Given the description of an element on the screen output the (x, y) to click on. 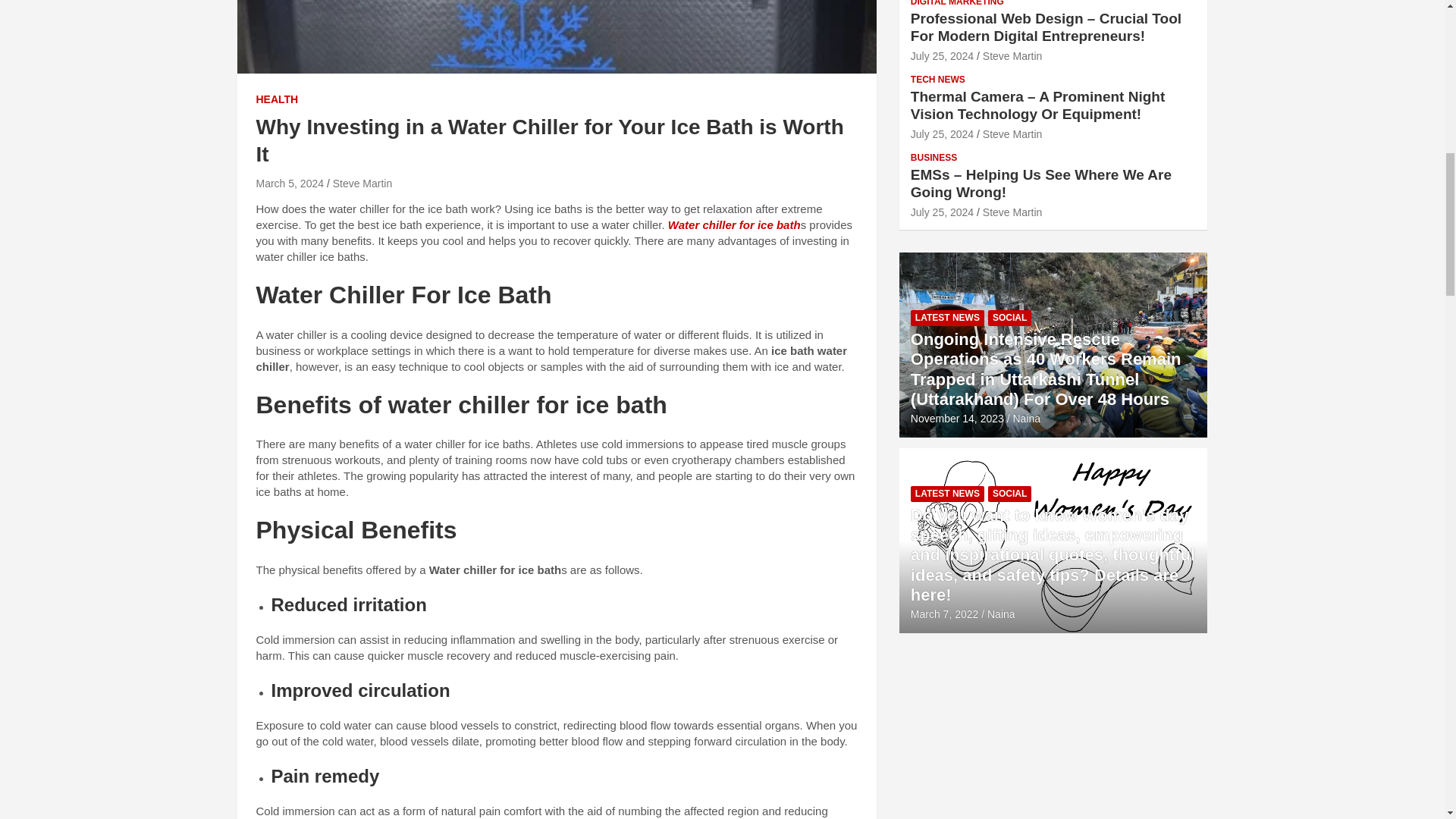
Water chiller for ice bath (734, 224)
March 5, 2024 (290, 183)
Steve Martin (363, 183)
HEALTH (277, 99)
